Given the description of an element on the screen output the (x, y) to click on. 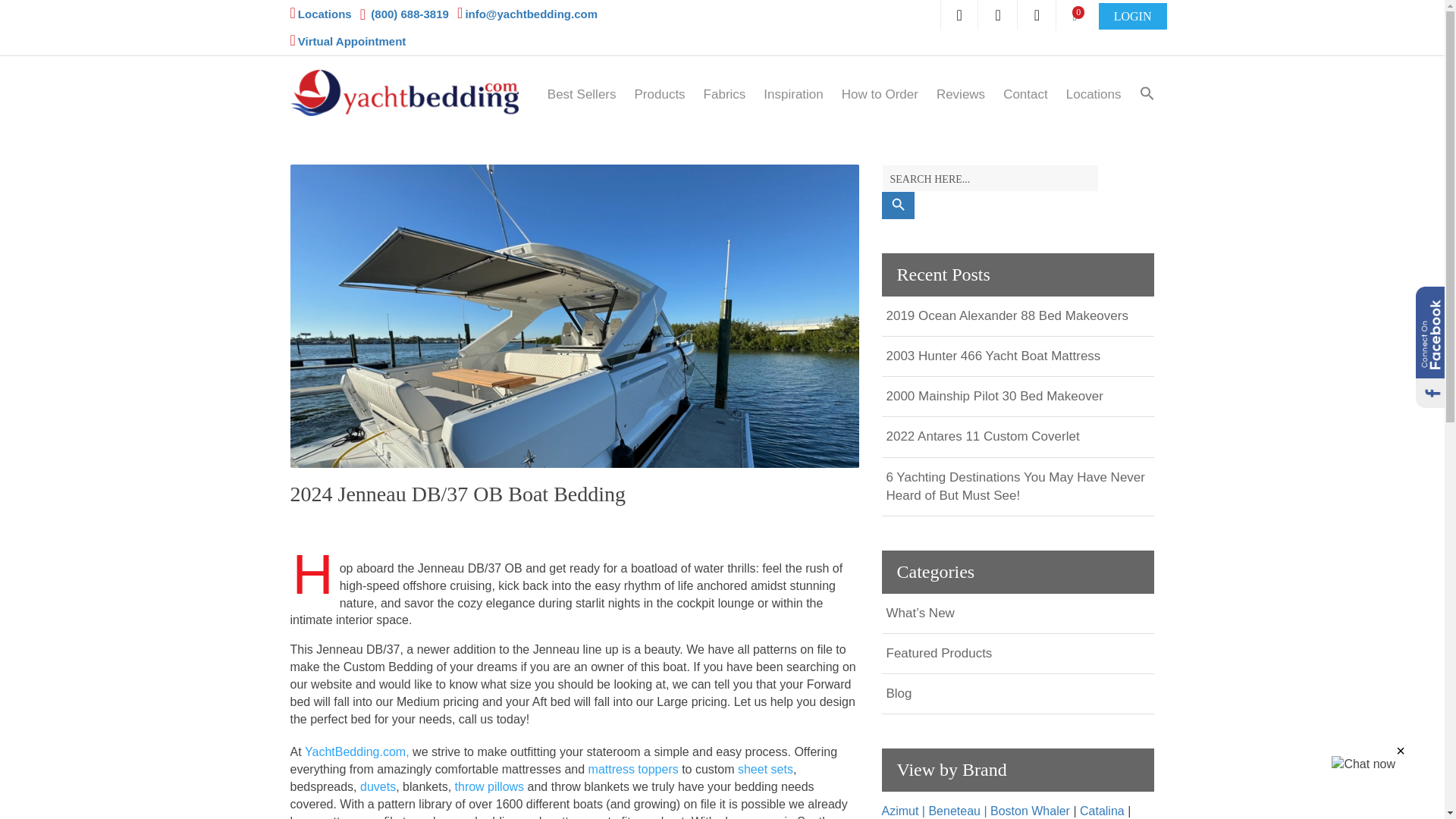
LOGIN (1133, 16)
Fabrics (724, 93)
Reviews (960, 93)
mattress toppers (633, 772)
duvets (377, 790)
YachtBedding.com, (356, 755)
2022 Antares 11 Custom Coverlet (981, 436)
Blog (898, 693)
Inspiration (792, 93)
YachtBedding.com (416, 92)
Search Button (897, 205)
2019 Ocean Alexander 88 Bed Makeovers (1005, 315)
How to Order (879, 93)
Products (659, 93)
